Given the description of an element on the screen output the (x, y) to click on. 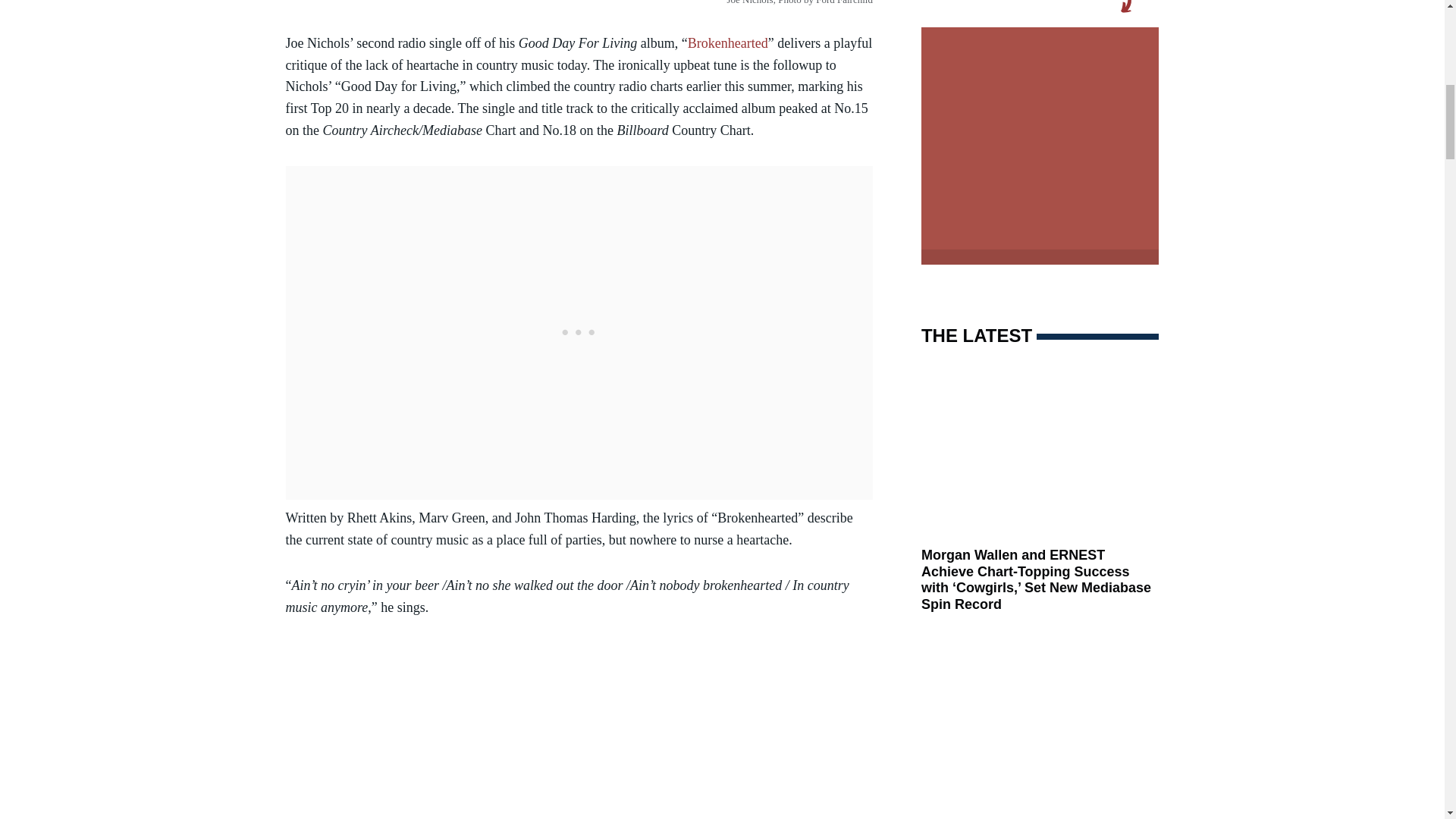
Brokenhearted (727, 43)
